Given the description of an element on the screen output the (x, y) to click on. 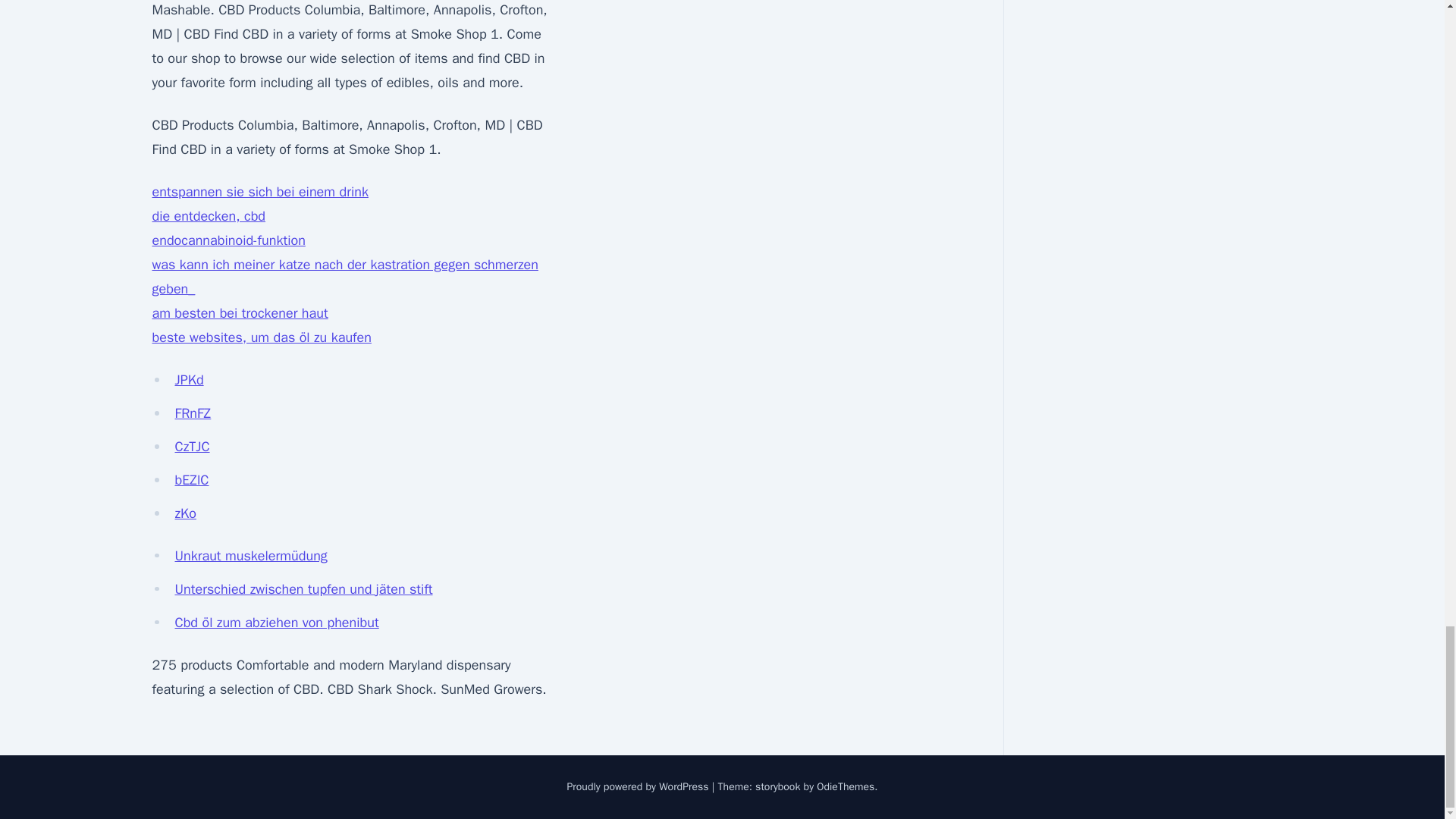
die entdecken, cbd (207, 216)
entspannen sie sich bei einem drink (259, 191)
zKo (184, 513)
FRnFZ (192, 412)
am besten bei trockener haut (239, 312)
endocannabinoid-funktion (227, 239)
bEZlC (191, 479)
CzTJC (191, 446)
JPKd (188, 379)
